Given the description of an element on the screen output the (x, y) to click on. 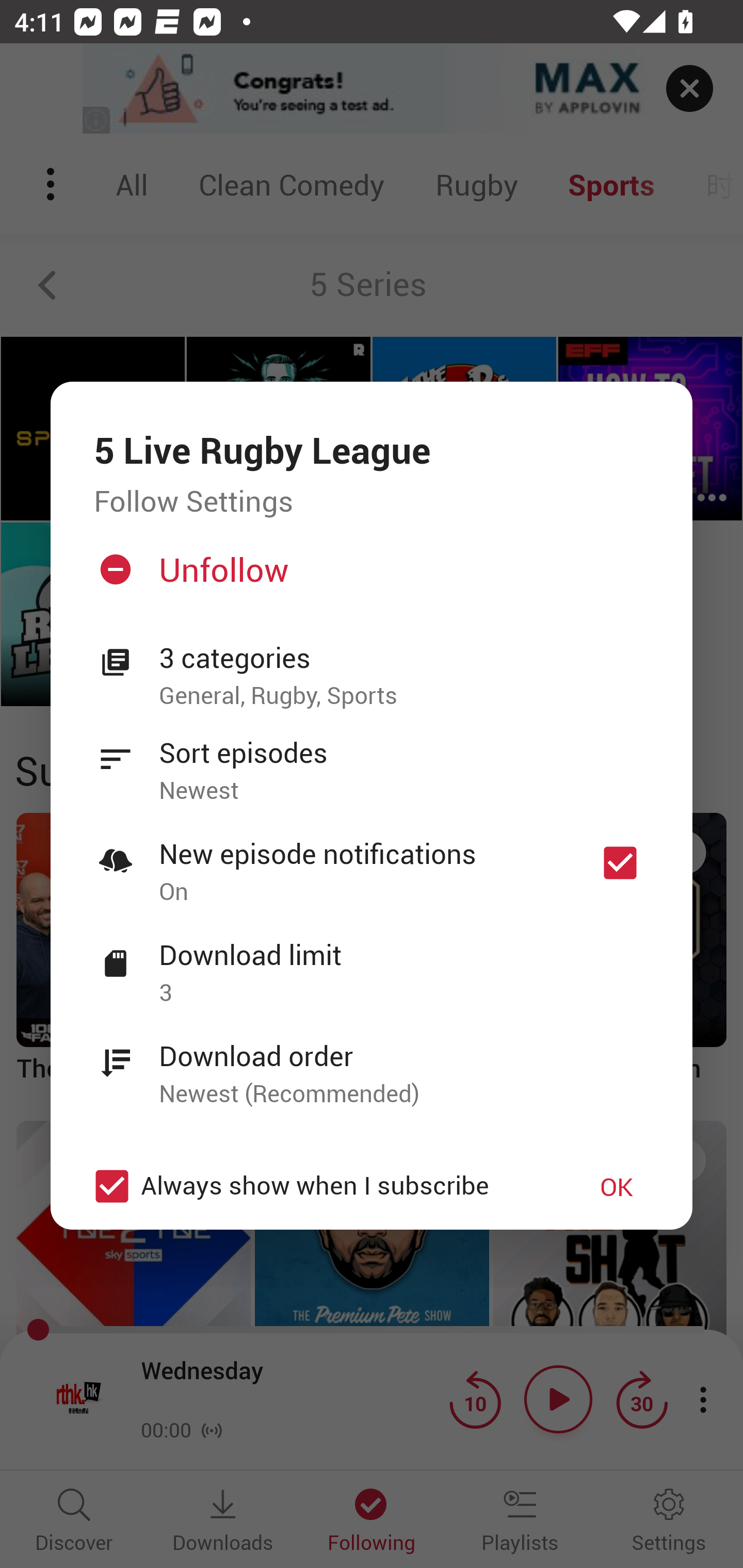
Unfollow (369, 576)
3 categories (404, 658)
General, Rugby, Sports (404, 696)
Sort episodes Newest (371, 760)
New episode notifications (620, 863)
Download limit 3 (371, 962)
Download order Newest (Recommended) (371, 1063)
OK (616, 1186)
Always show when I subscribe (320, 1186)
